Given the description of an element on the screen output the (x, y) to click on. 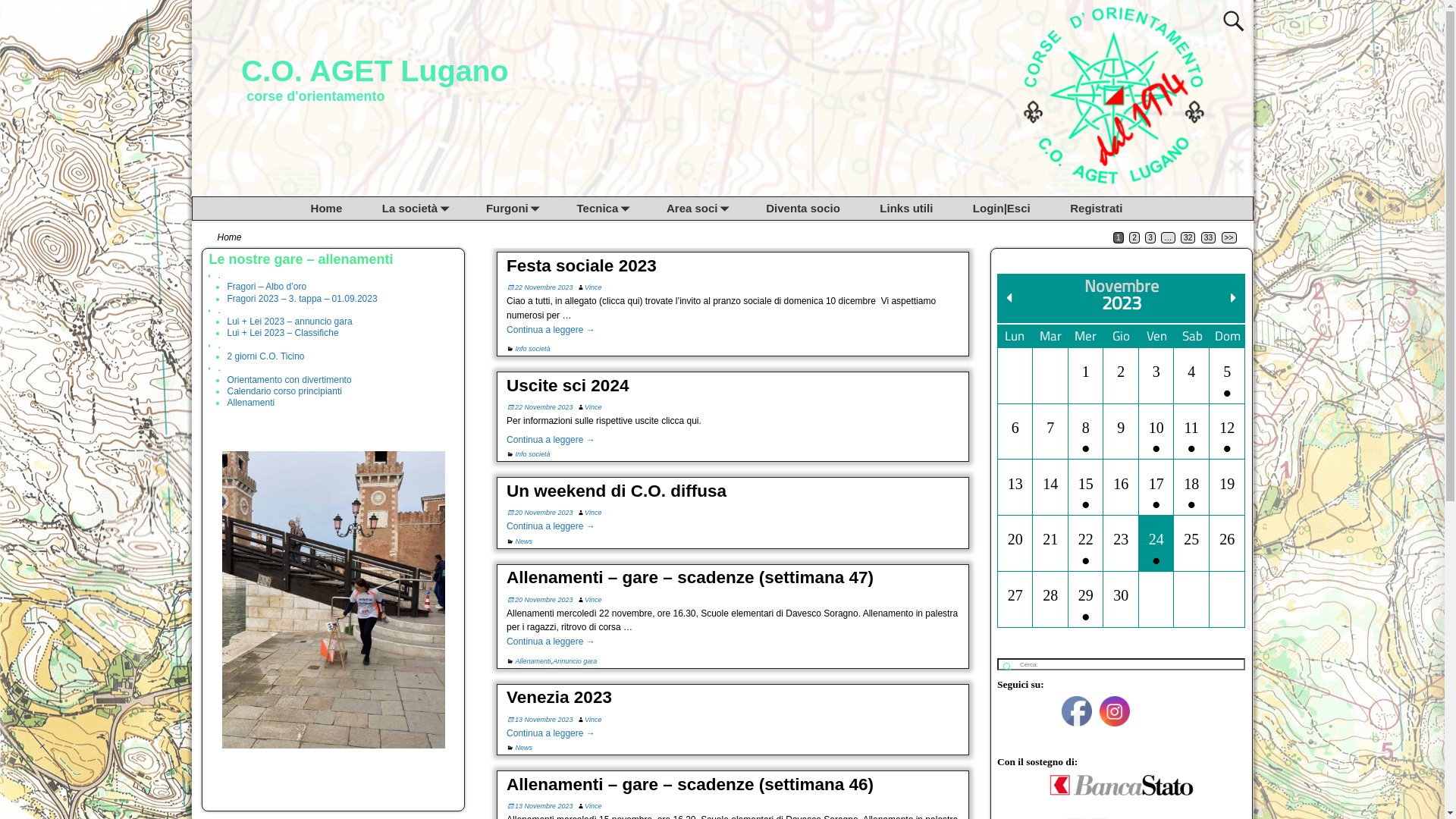
. Element type: text (218, 274)
C.O. AGET Lugano Element type: text (374, 70)
. Element type: text (218, 309)
News Element type: text (524, 541)
13 Novembre 2023 Element type: text (539, 719)
Links utili Element type: text (917, 208)
Vince Element type: text (592, 287)
Un weekend di C.O. diffusa Element type: text (616, 490)
Calendario corso principianti Element type: text (283, 390)
Venezia 2023 Element type: text (558, 696)
Allenamenti Element type: text (533, 661)
20 Novembre 2023 Element type: text (539, 599)
Diventa socio Element type: text (814, 208)
Home Element type: text (337, 208)
Tecnica Element type: text (612, 208)
Furgoni Element type: text (522, 208)
2 Element type: text (1134, 237)
Area soci Element type: text (707, 208)
22 Novembre 2023 Element type: text (539, 407)
Vince Element type: text (592, 805)
20 Novembre 2023 Element type: text (539, 512)
32 Element type: text (1187, 237)
Allenamenti Element type: text (250, 402)
22 Novembre 2023 Element type: text (539, 287)
Annuncio gara Element type: text (574, 661)
Facebook Element type: hover (1076, 711)
Orientamento con divertimento Element type: text (288, 379)
Login|Esci Element type: text (1012, 208)
Vince Element type: text (592, 407)
33 Element type: text (1208, 237)
>> Element type: text (1228, 237)
13 Novembre 2023 Element type: text (539, 805)
. Element type: text (218, 367)
Vince Element type: text (592, 719)
Vince Element type: text (592, 512)
2 giorni C.O. Ticino Element type: text (265, 356)
. Element type: text (218, 344)
Uscite sci 2024 Element type: text (567, 385)
Instagram Element type: hover (1114, 711)
News Element type: text (524, 747)
Festa sociale 2023 Element type: text (581, 265)
Registrati Element type: text (1107, 208)
3 Element type: text (1150, 237)
Vince Element type: text (592, 599)
